Given the description of an element on the screen output the (x, y) to click on. 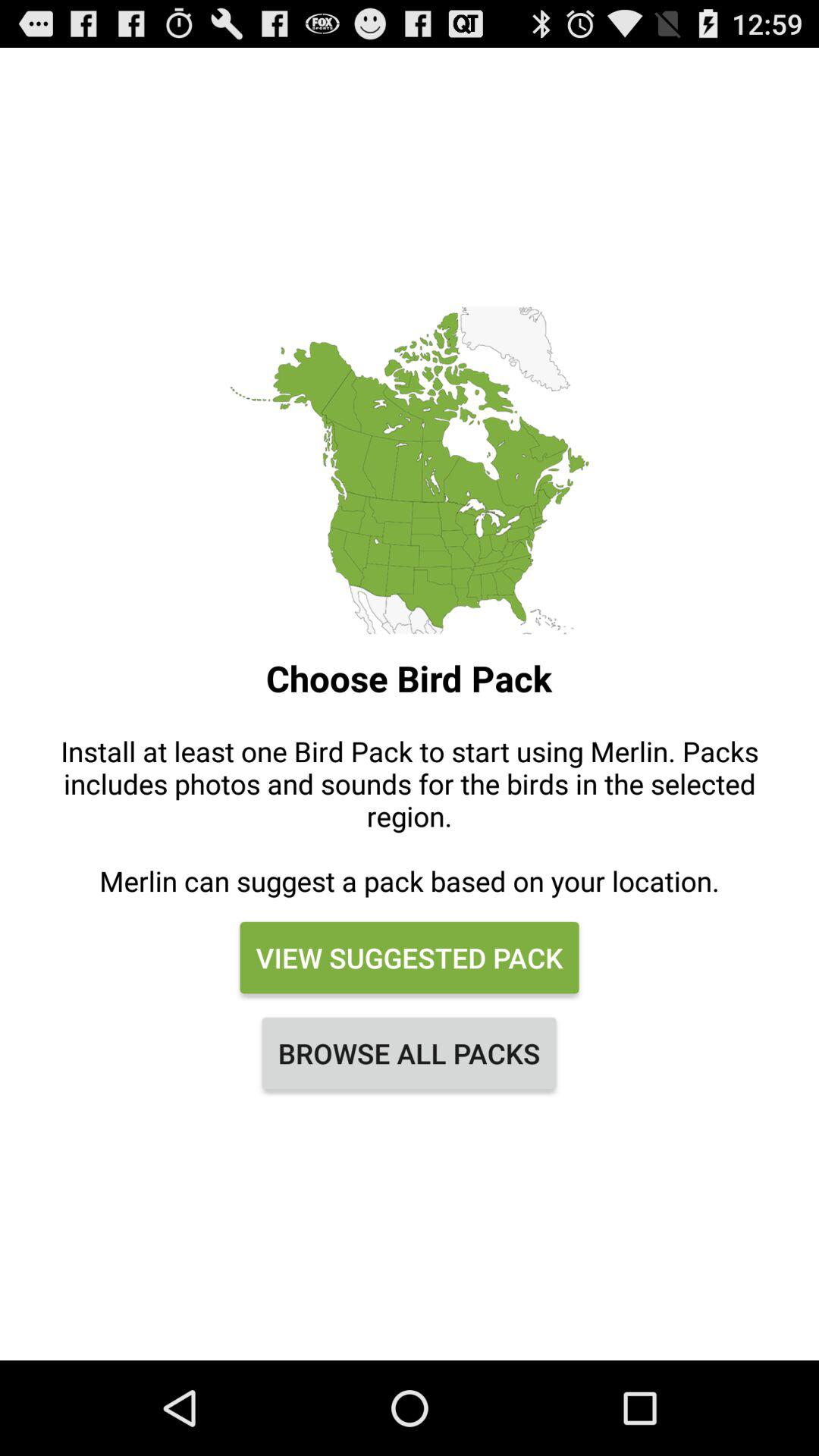
turn off the item above browse all packs (409, 957)
